Given the description of an element on the screen output the (x, y) to click on. 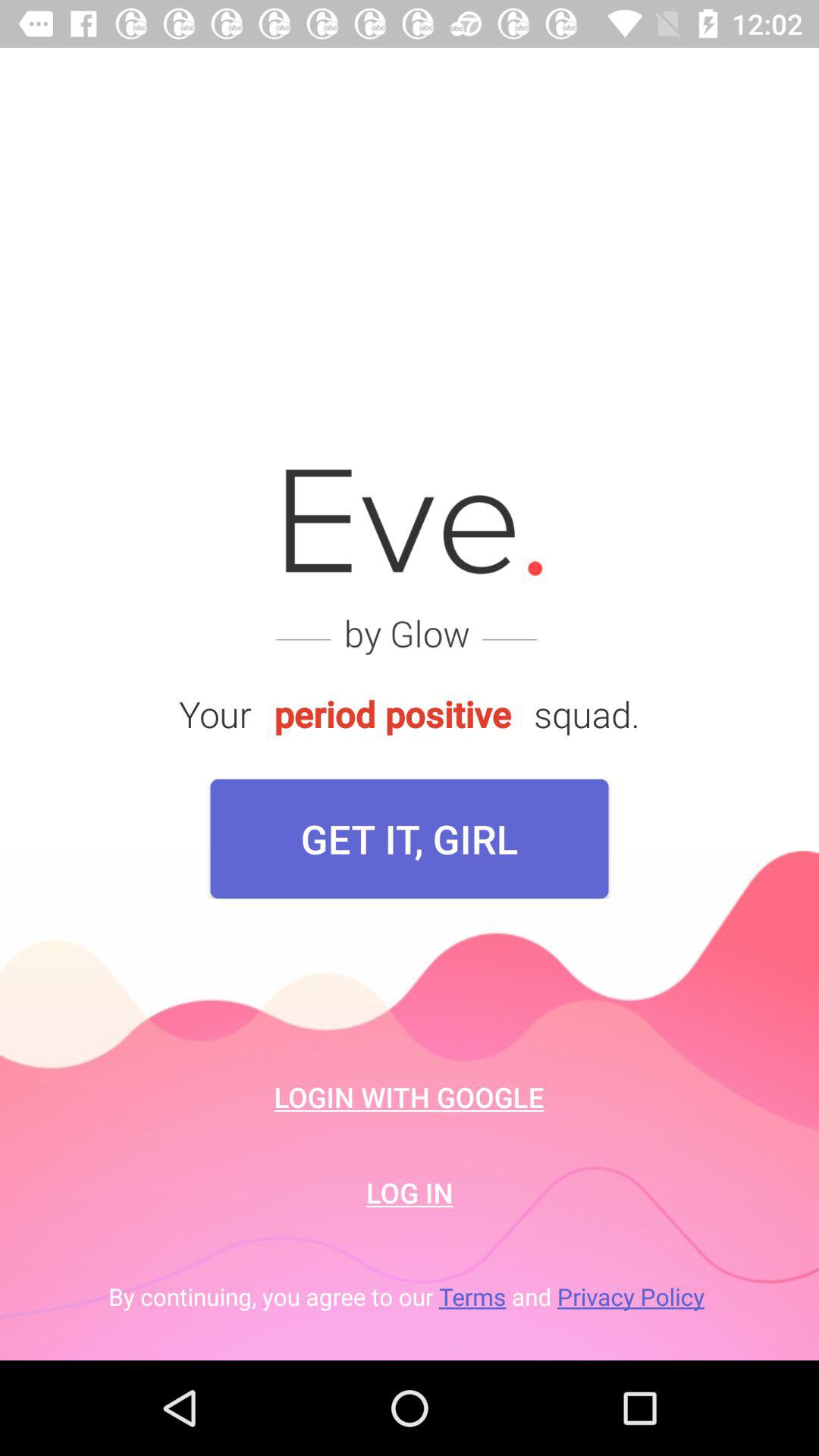
turn on the icon below  log in  item (409, 1296)
